Given the description of an element on the screen output the (x, y) to click on. 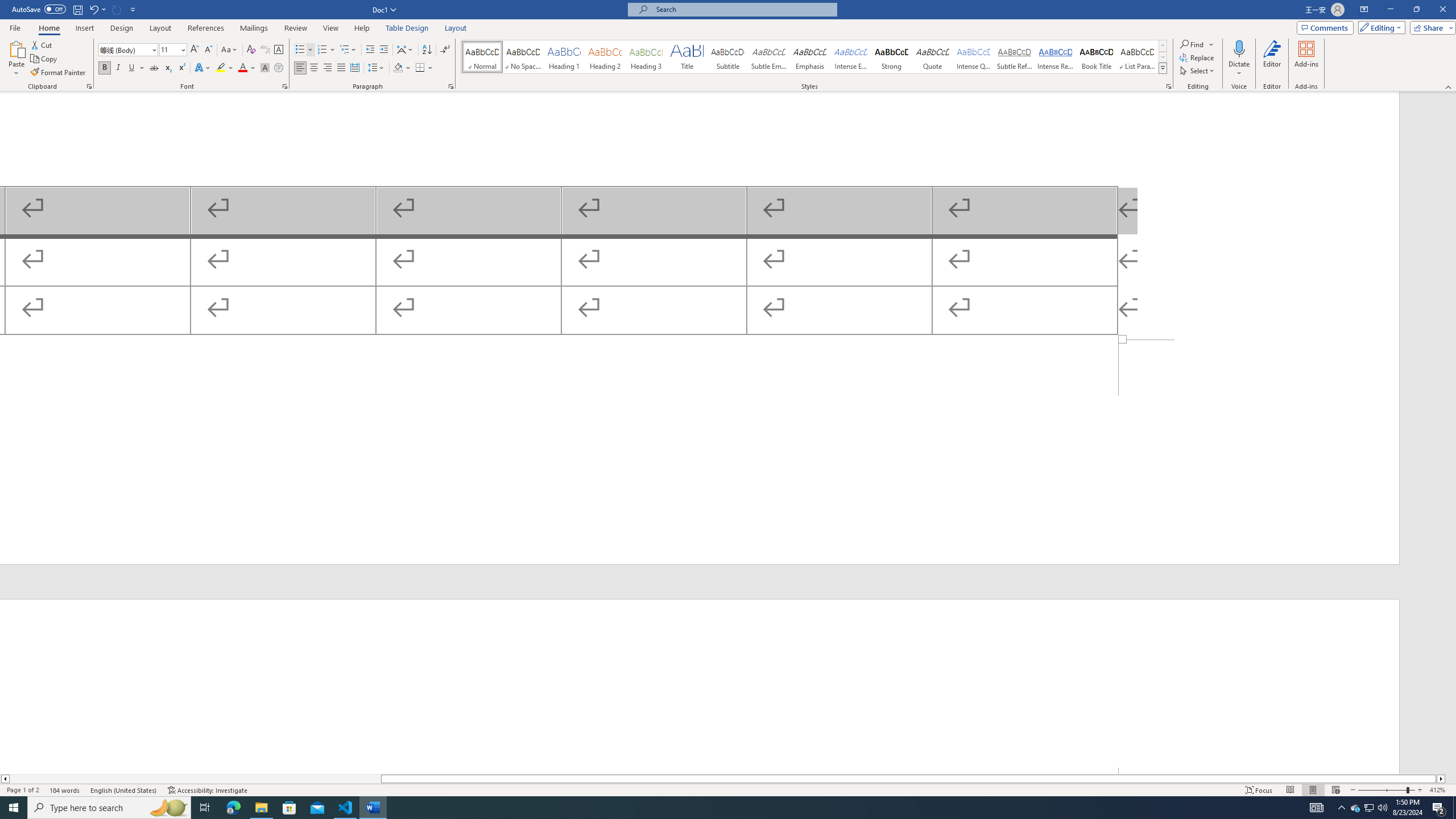
Column left (5, 778)
